Given the description of an element on the screen output the (x, y) to click on. 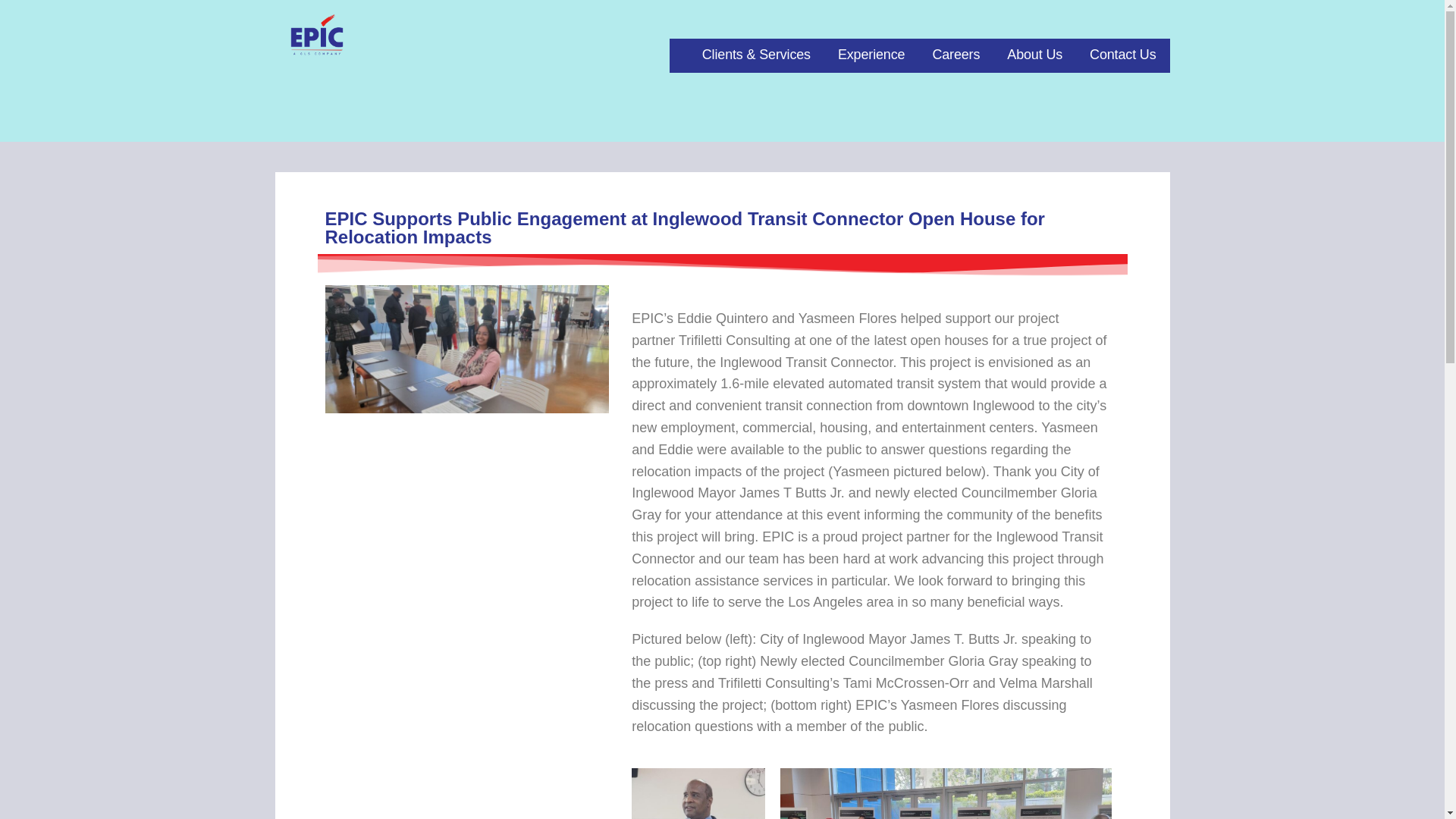
Experience (871, 55)
Search (47, 17)
Careers (955, 55)
About Us (1034, 55)
Epic Land Solutions, Inc. (410, 69)
Contact Us (1122, 55)
